Given the description of an element on the screen output the (x, y) to click on. 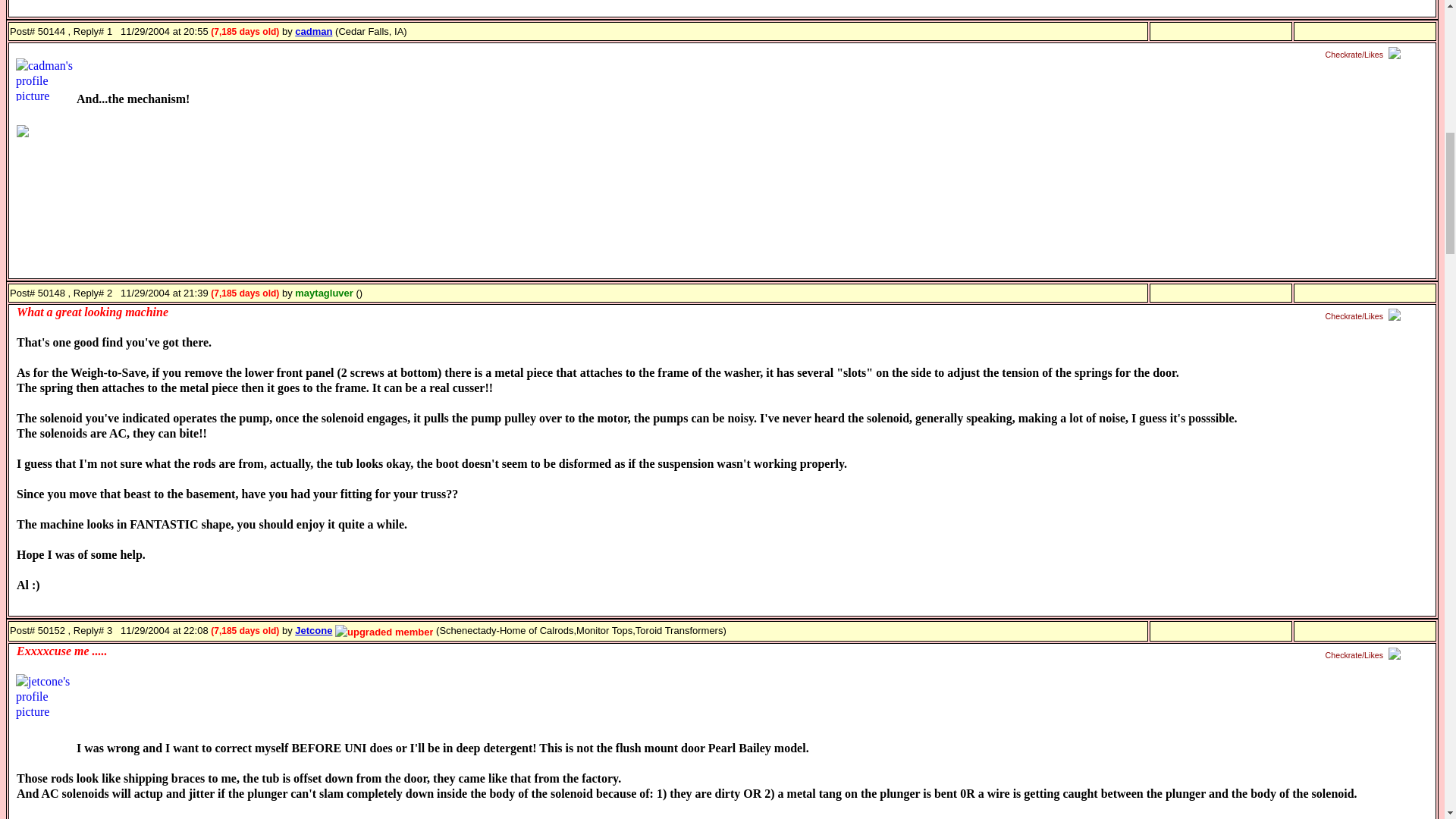
You must be logged in to checkrate posts (1364, 54)
cadman (313, 30)
You must be logged in to checkrate posts (1364, 655)
You must be logged in to checkrate posts (1364, 316)
upgraded member (383, 631)
